Given the description of an element on the screen output the (x, y) to click on. 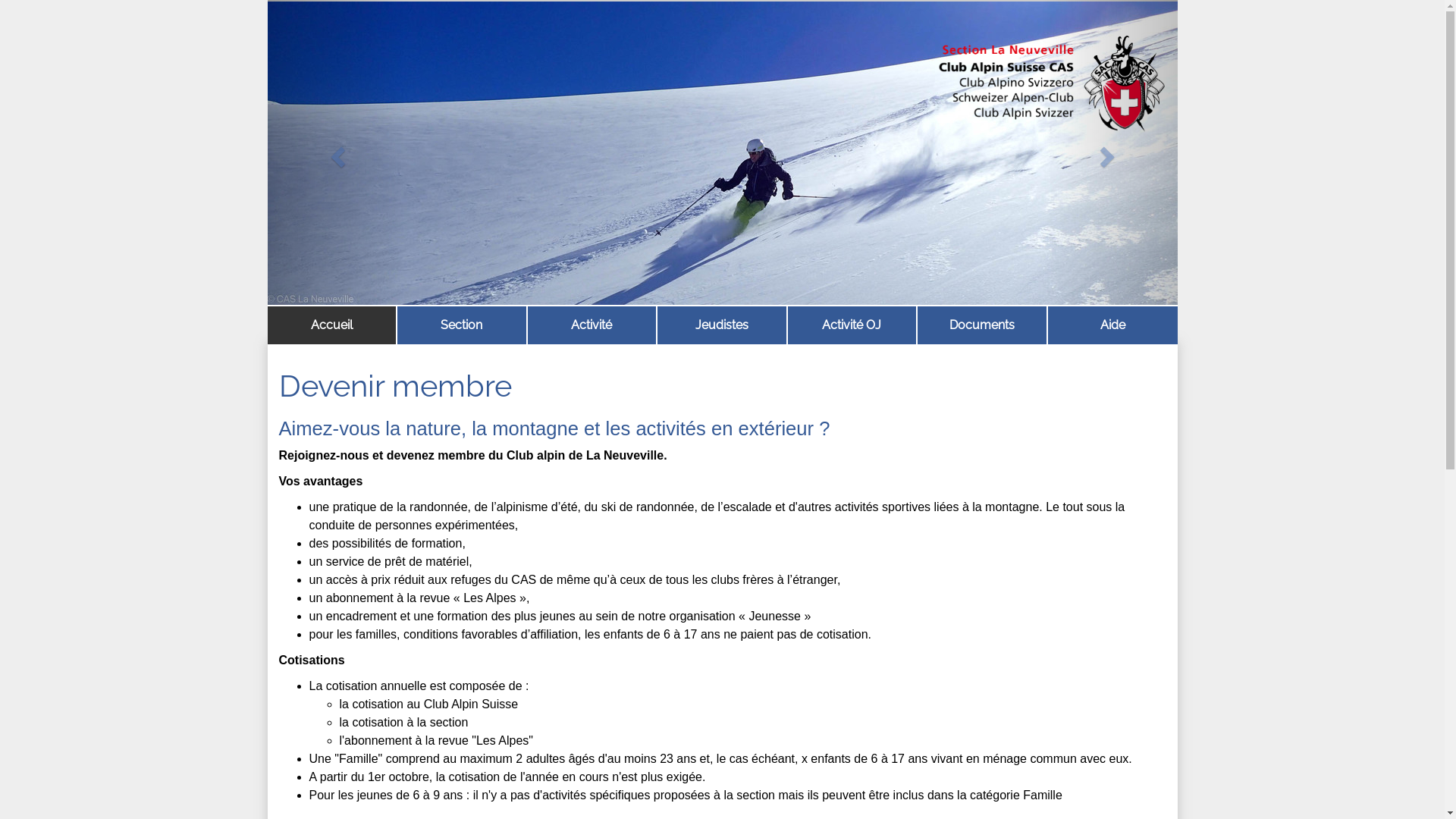
Documents Element type: text (981, 325)
Accueil Element type: text (330, 325)
Section Element type: text (461, 325)
Next Element type: text (1108, 152)
Aide Element type: text (1112, 325)
Jeudistes Element type: text (721, 325)
Section Element type: text (461, 325)
Aide Element type: text (1112, 325)
Accueil Element type: text (331, 325)
Documents Element type: text (981, 325)
Jeudistes Element type: text (721, 325)
Previous Element type: text (334, 152)
